Given the description of an element on the screen output the (x, y) to click on. 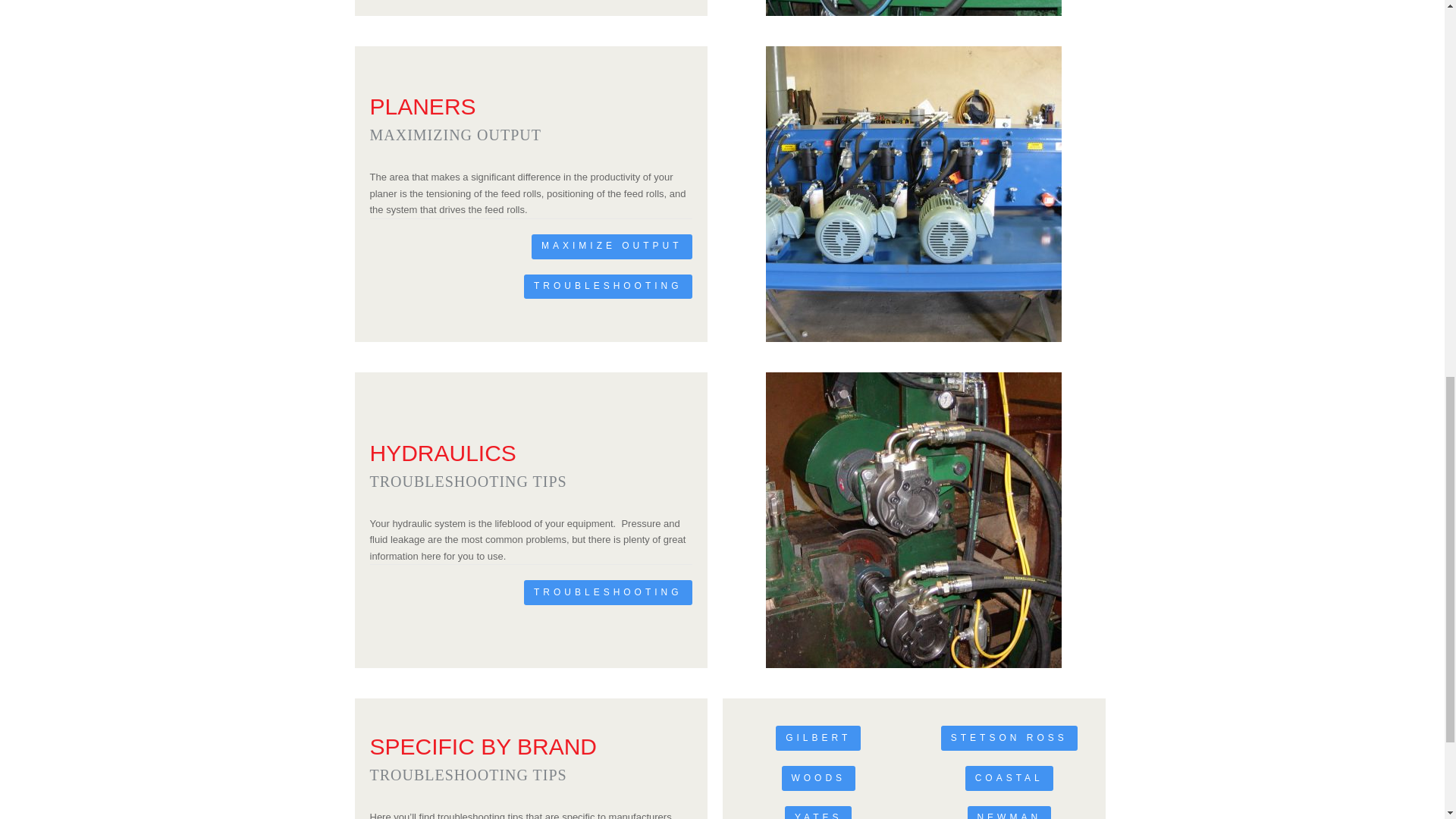
OLYMPUS DIGITAL CAMERA (913, 520)
Hydraulic Drive System (913, 193)
GILBERT (818, 738)
TROUBLESHOOTING (607, 286)
MAXIMIZE OUTPUT (611, 246)
TROUBLESHOOTING (607, 592)
Feedtable Hydraulic drive upgrade (913, 7)
